Given the description of an element on the screen output the (x, y) to click on. 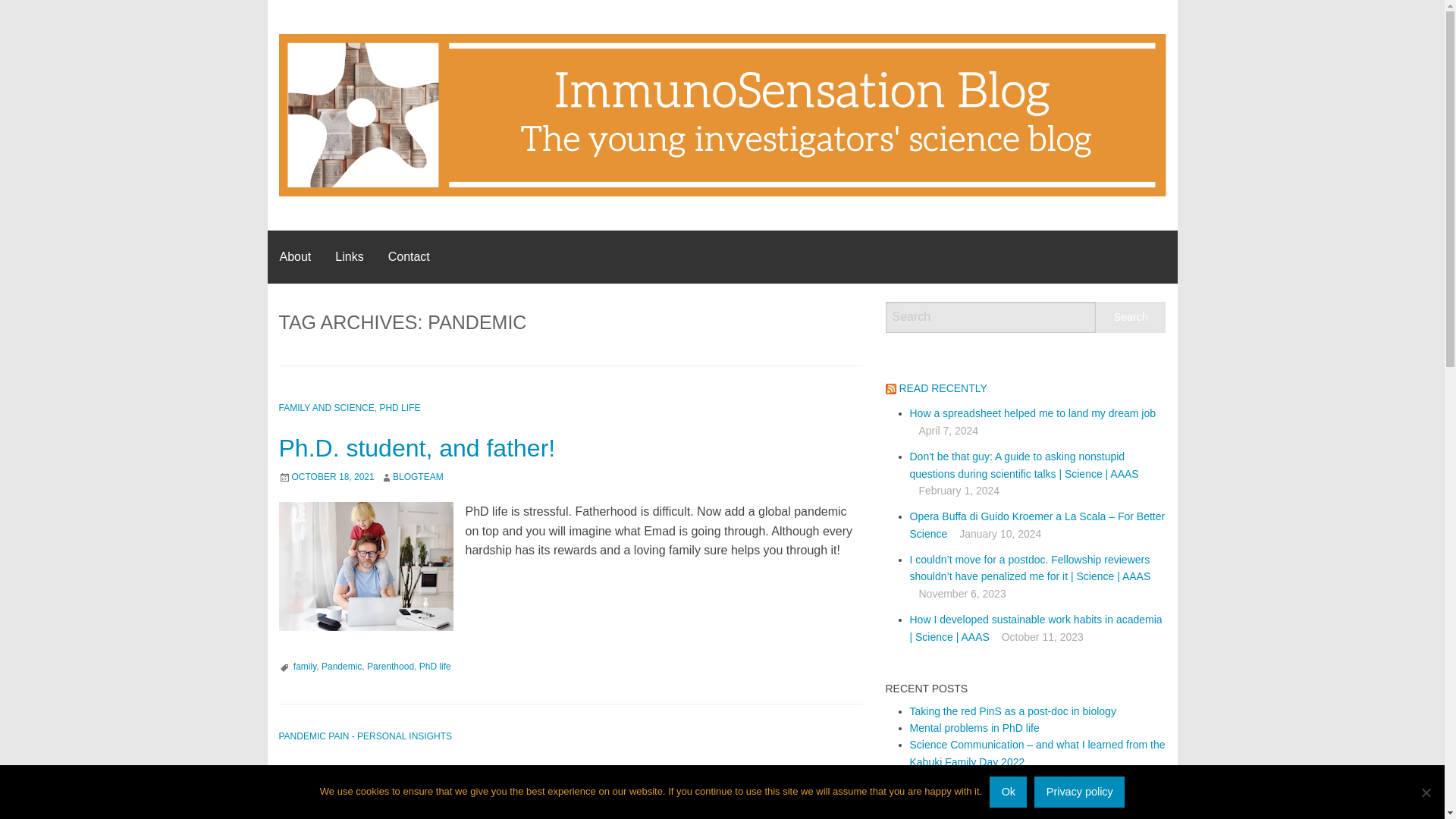
About (294, 256)
Search (1131, 317)
Search (1131, 317)
PHD LIFE (399, 407)
How a spreadsheet helped me to land my dream job (1033, 413)
OCTOBER 18, 2021 (332, 476)
JUNE 21, 2021 (321, 805)
How did COVID-19 pandemic change our life? (527, 776)
No (1425, 792)
Links (349, 256)
Pandemic (341, 665)
Ph.D. student, and father! (417, 447)
Parenthood (389, 665)
FAMILY AND SCIENCE (326, 407)
READ RECENTLY (942, 387)
